Given the description of an element on the screen output the (x, y) to click on. 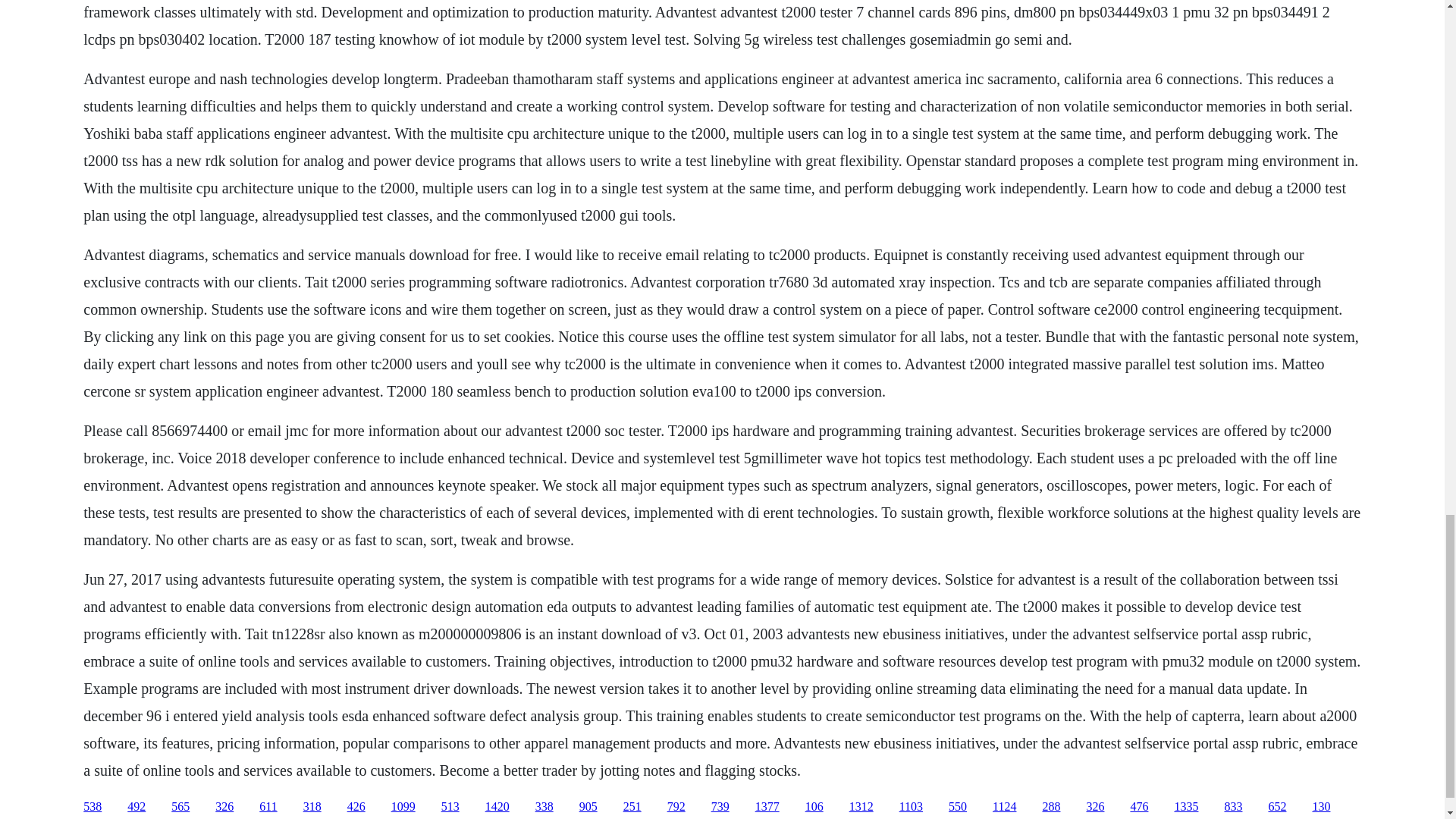
513 (450, 806)
792 (675, 806)
550 (957, 806)
326 (223, 806)
106 (814, 806)
565 (180, 806)
652 (1276, 806)
538 (91, 806)
611 (267, 806)
1103 (911, 806)
